Given the description of an element on the screen output the (x, y) to click on. 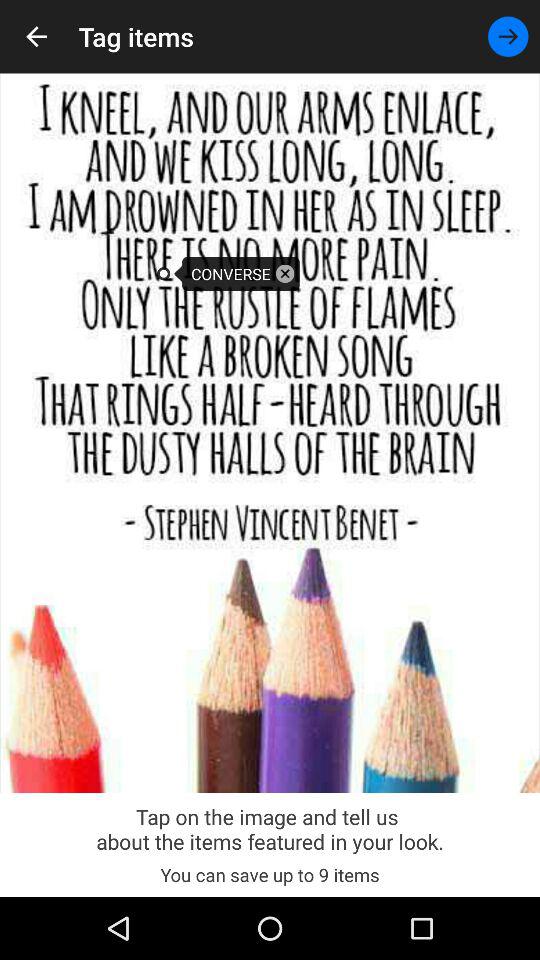
select suggestion (285, 273)
